Given the description of an element on the screen output the (x, y) to click on. 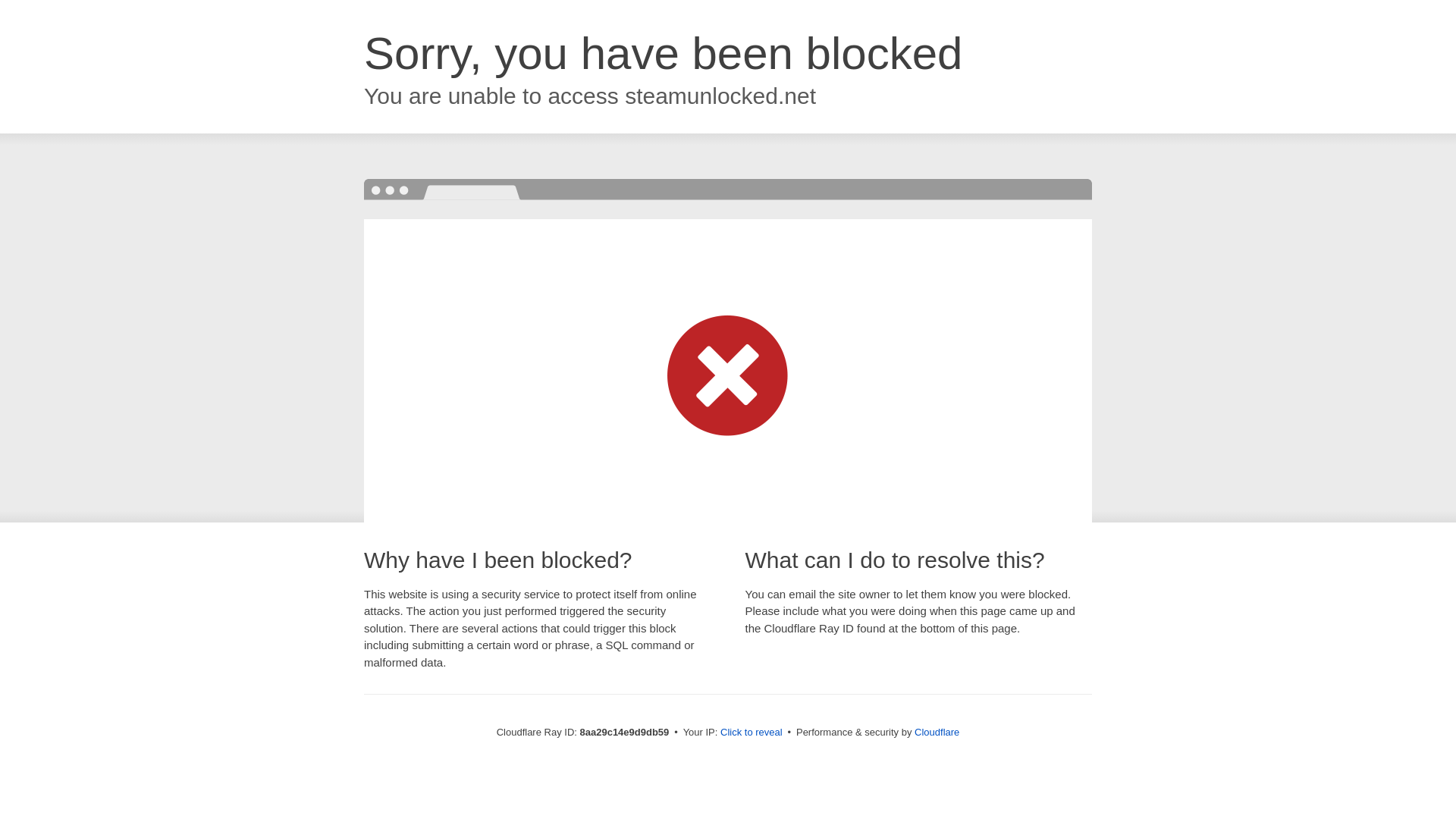
Click to reveal (751, 732)
Cloudflare (936, 731)
